Given the description of an element on the screen output the (x, y) to click on. 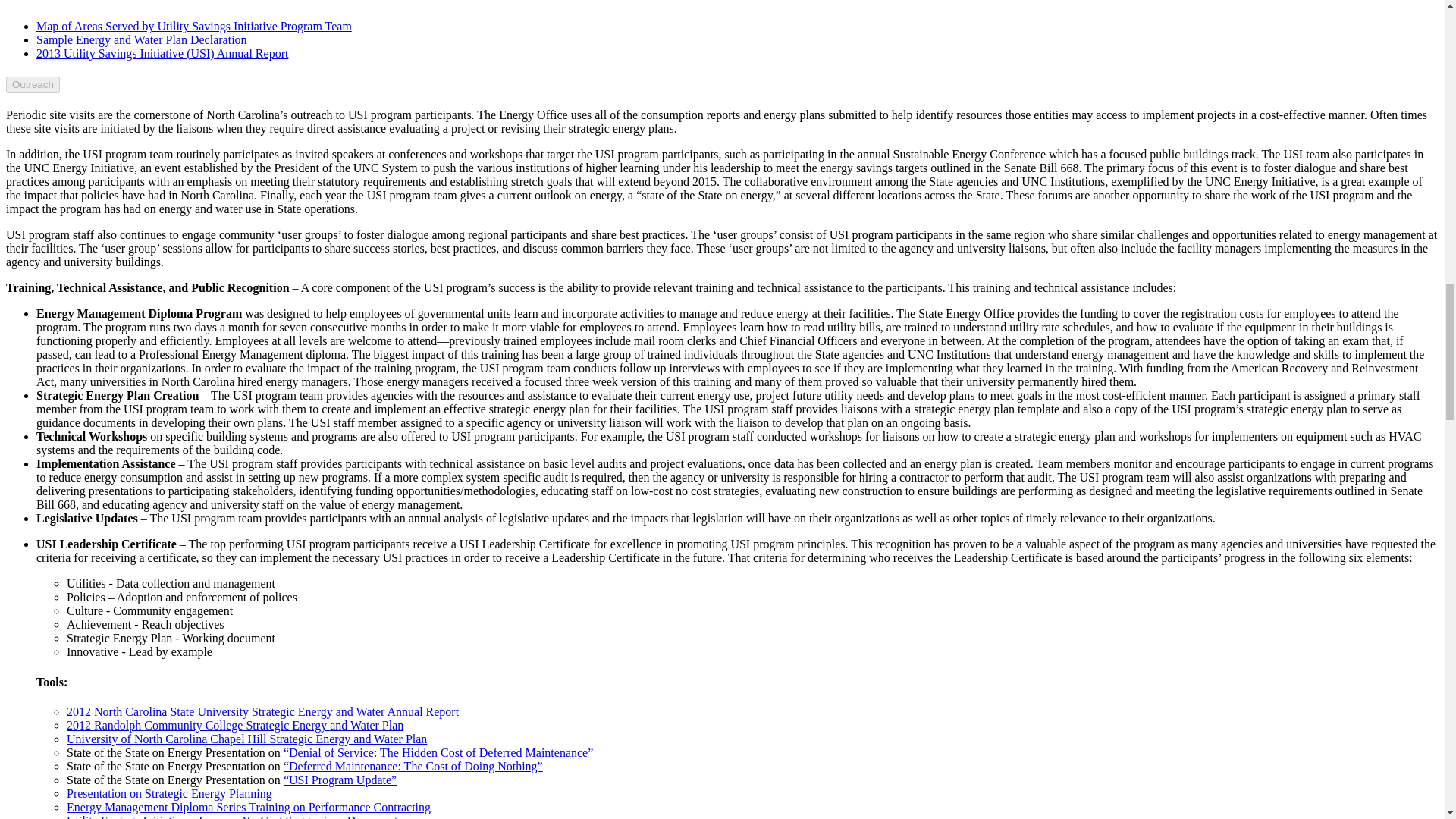
Presentation on Strategic Energy Planning (169, 793)
Sample Energy and Water Plan Declaration (141, 39)
Outreach (32, 84)
